Given the description of an element on the screen output the (x, y) to click on. 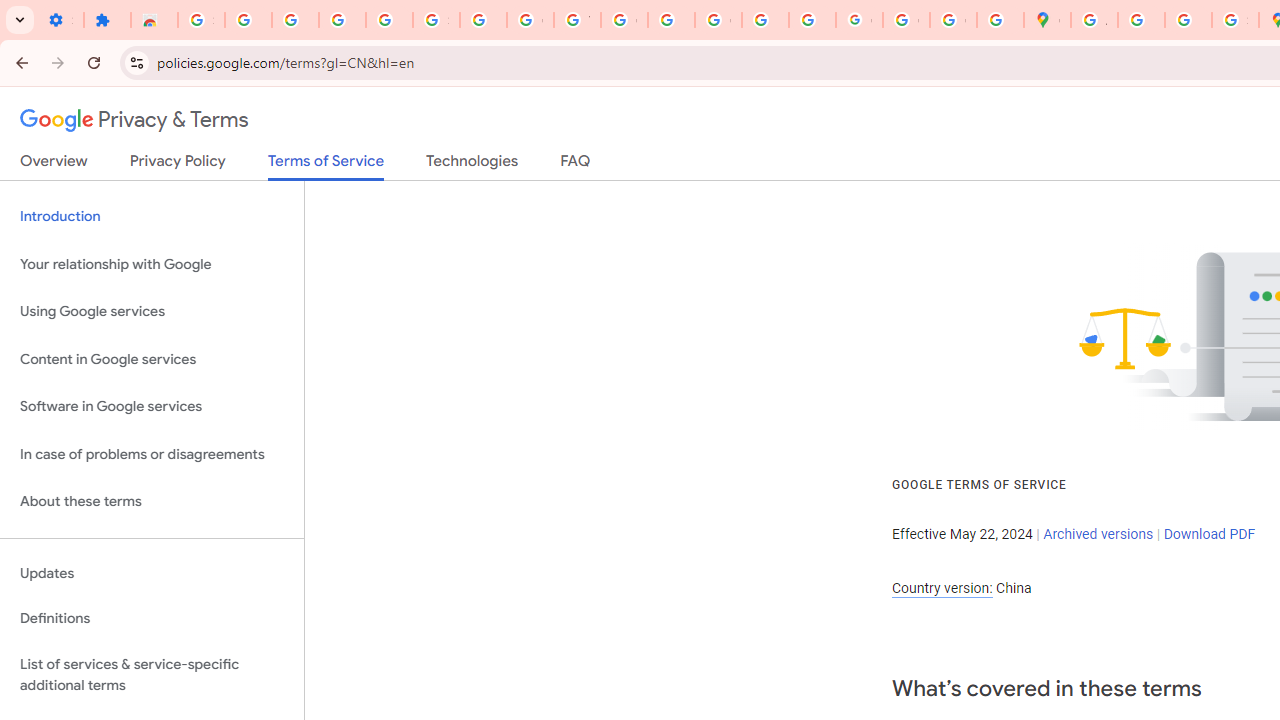
Definitions (152, 619)
Software in Google services (152, 407)
Google Maps (1047, 20)
Your relationship with Google (152, 263)
https://scholar.google.com/ (671, 20)
In case of problems or disagreements (152, 453)
YouTube (577, 20)
